Given the description of an element on the screen output the (x, y) to click on. 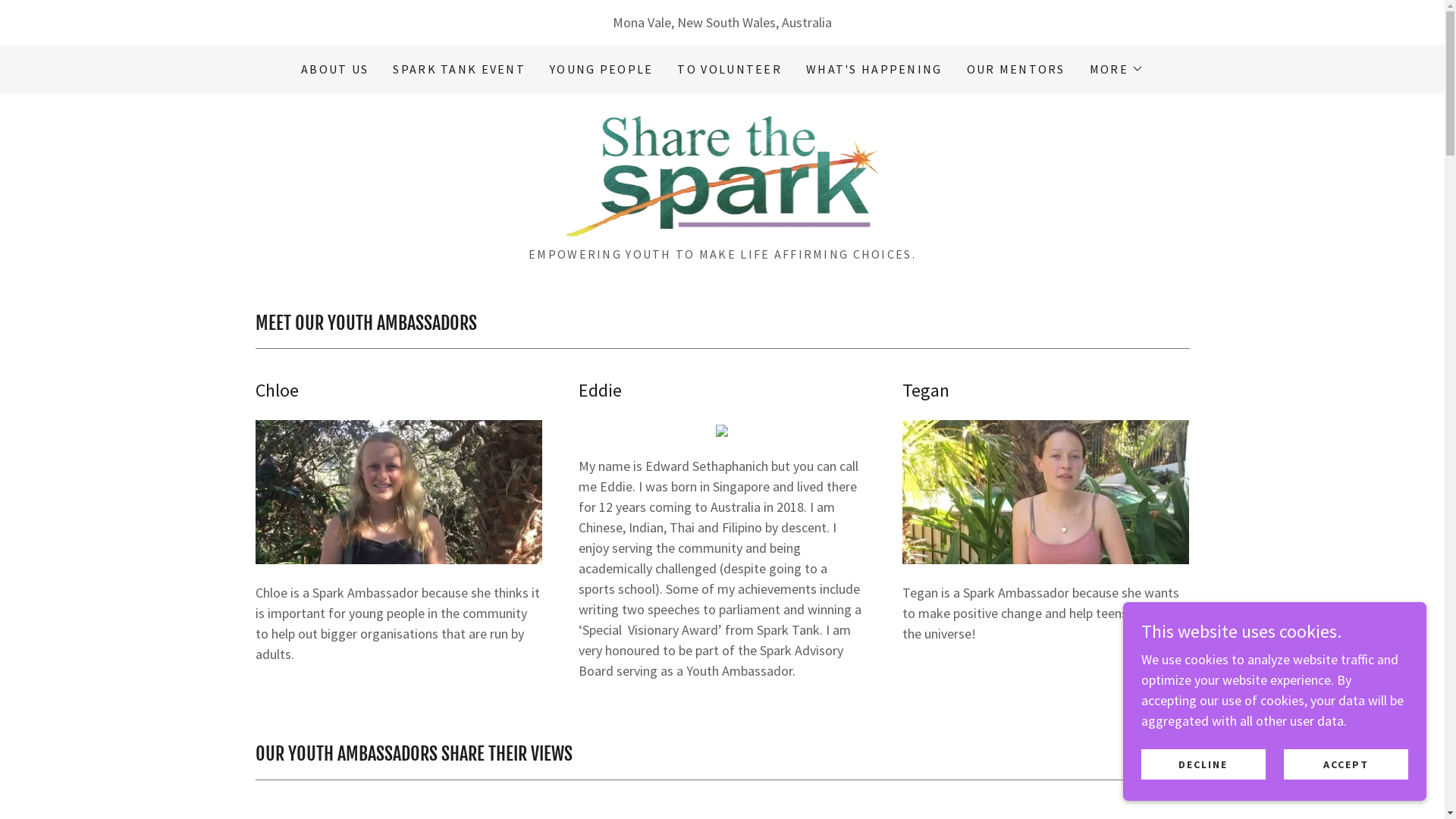
DECLINE Element type: text (1203, 764)
OUR MENTORS Element type: text (1016, 68)
ABOUT US Element type: text (334, 68)
WHAT'S HAPPENING Element type: text (874, 68)
Share the Spark Element type: hover (722, 173)
SPARK TANK EVENT Element type: text (459, 68)
TO VOLUNTEER Element type: text (728, 68)
YOUNG PEOPLE Element type: text (601, 68)
MORE Element type: text (1116, 68)
ACCEPT Element type: text (1345, 764)
